Given the description of an element on the screen output the (x, y) to click on. 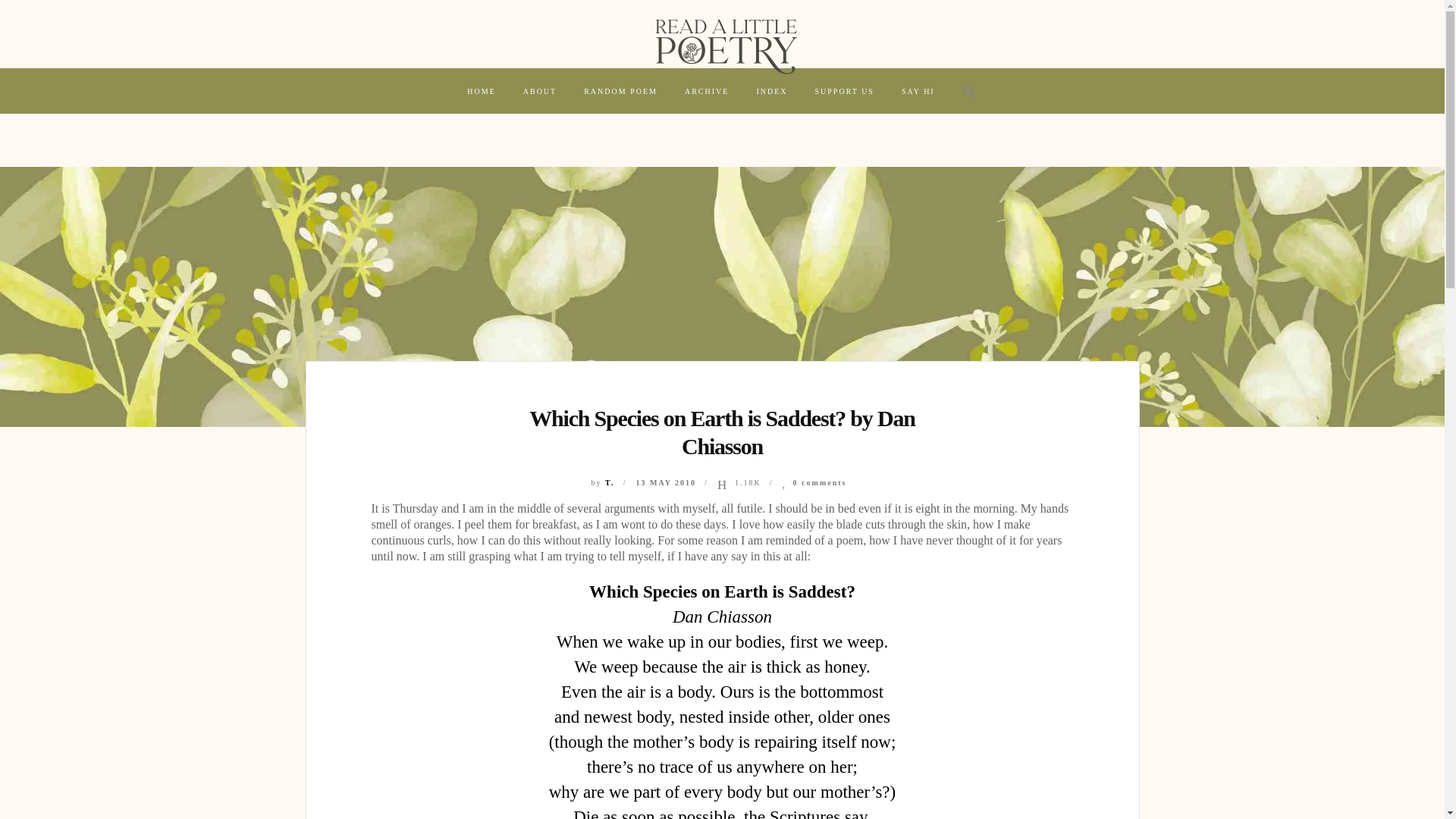
RANDOM POEM (620, 90)
ABOUT (539, 90)
SUPPORT US (843, 90)
INDEX (771, 90)
SAY HI (918, 90)
HOME (480, 90)
ARCHIVE (706, 90)
